Given the description of an element on the screen output the (x, y) to click on. 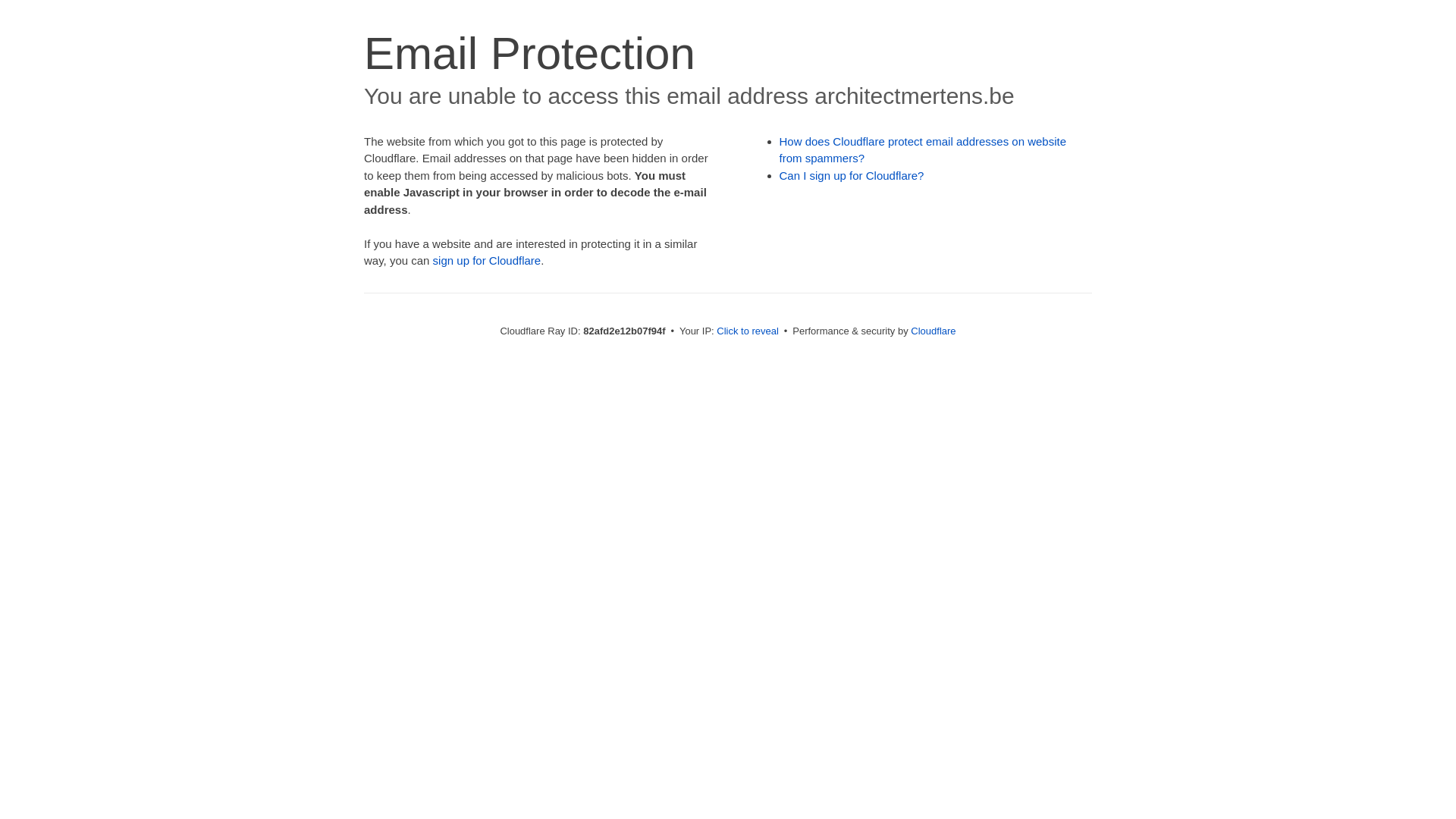
sign up for Cloudflare Element type: text (487, 260)
Can I sign up for Cloudflare? Element type: text (851, 175)
Click to reveal Element type: text (747, 330)
Cloudflare Element type: text (932, 330)
